Given the description of an element on the screen output the (x, y) to click on. 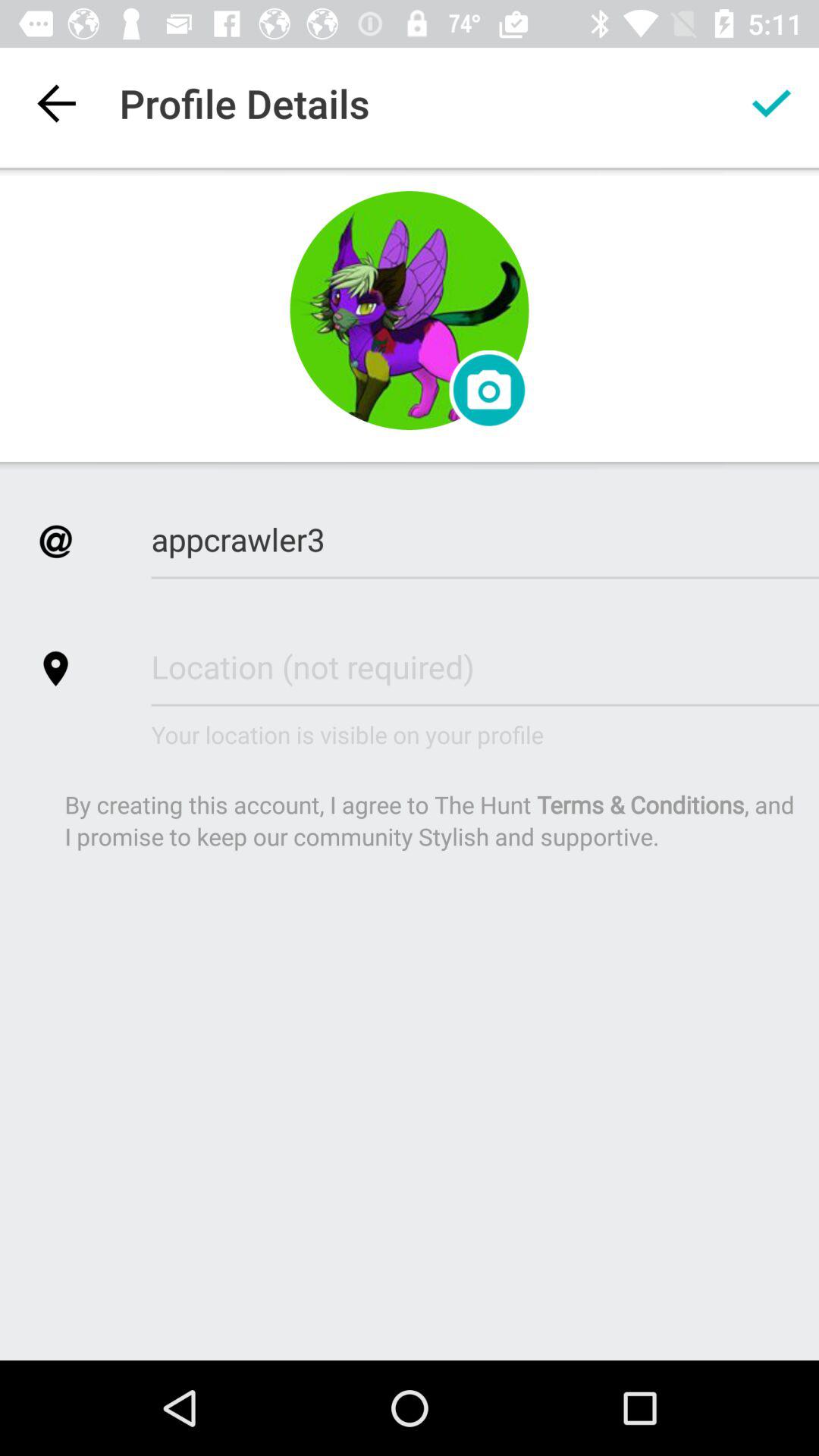
change the picture (488, 389)
